Given the description of an element on the screen output the (x, y) to click on. 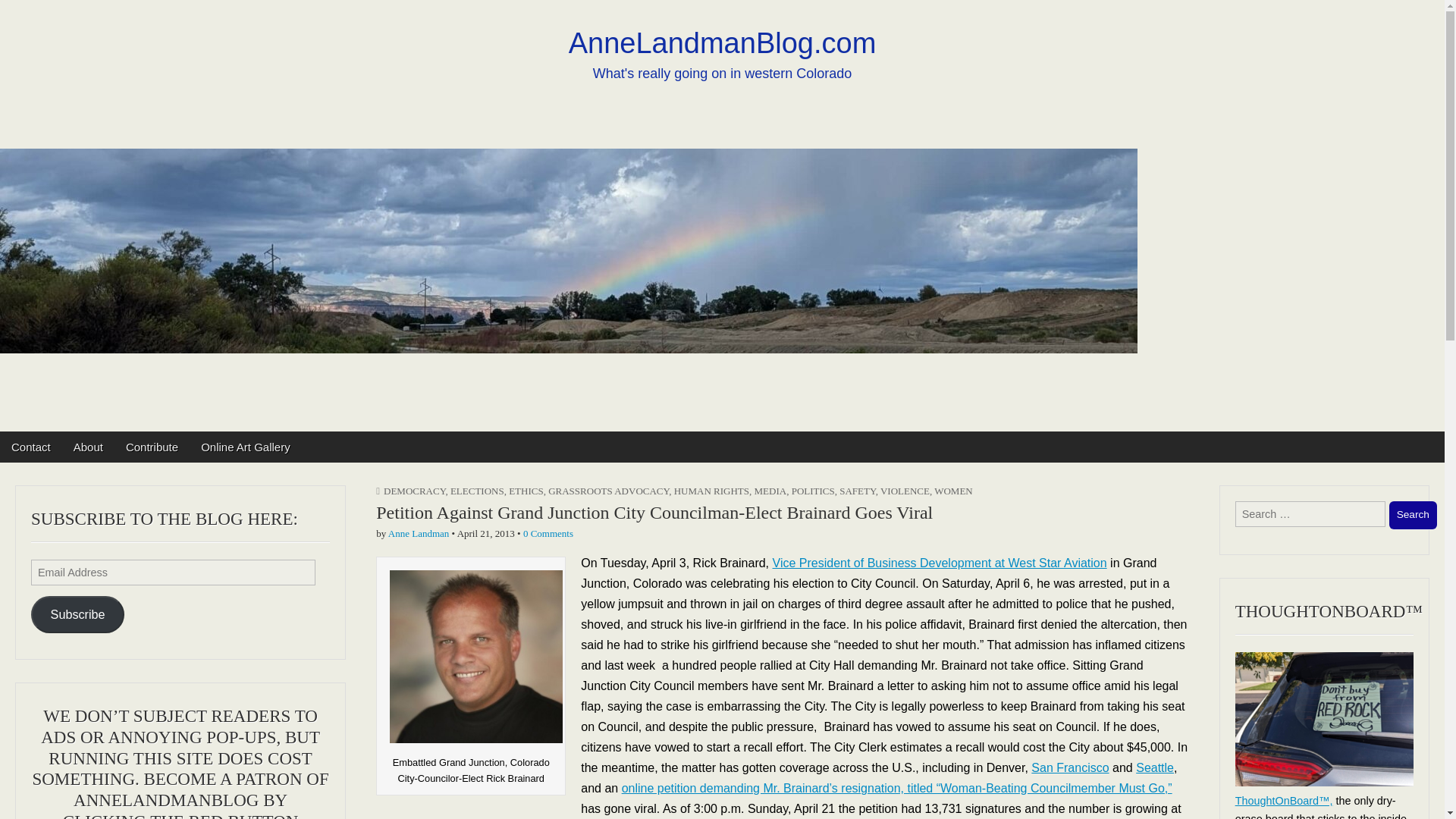
About (88, 446)
Posts by Anne Landman (418, 532)
SAFETY (857, 490)
San Francisco (1069, 767)
Online Art Gallery (245, 446)
WOMEN (953, 490)
ETHICS (525, 490)
MEDIA (770, 490)
0 Comments (547, 532)
DEMOCRACY (414, 490)
